Given the description of an element on the screen output the (x, y) to click on. 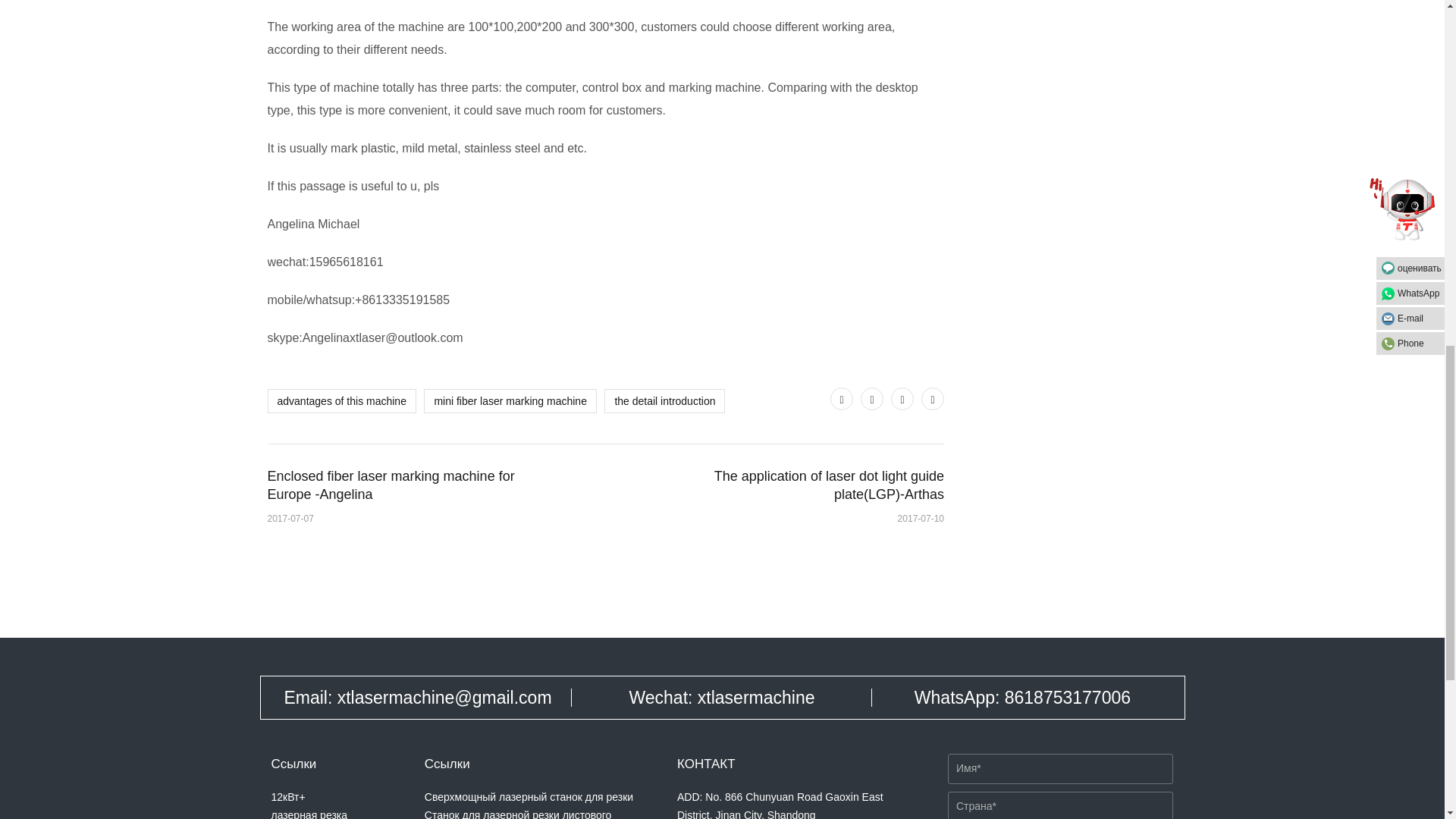
Twitter (841, 398)
Facebook (871, 398)
Pinterest (902, 398)
LinkedIn (932, 398)
